Given the description of an element on the screen output the (x, y) to click on. 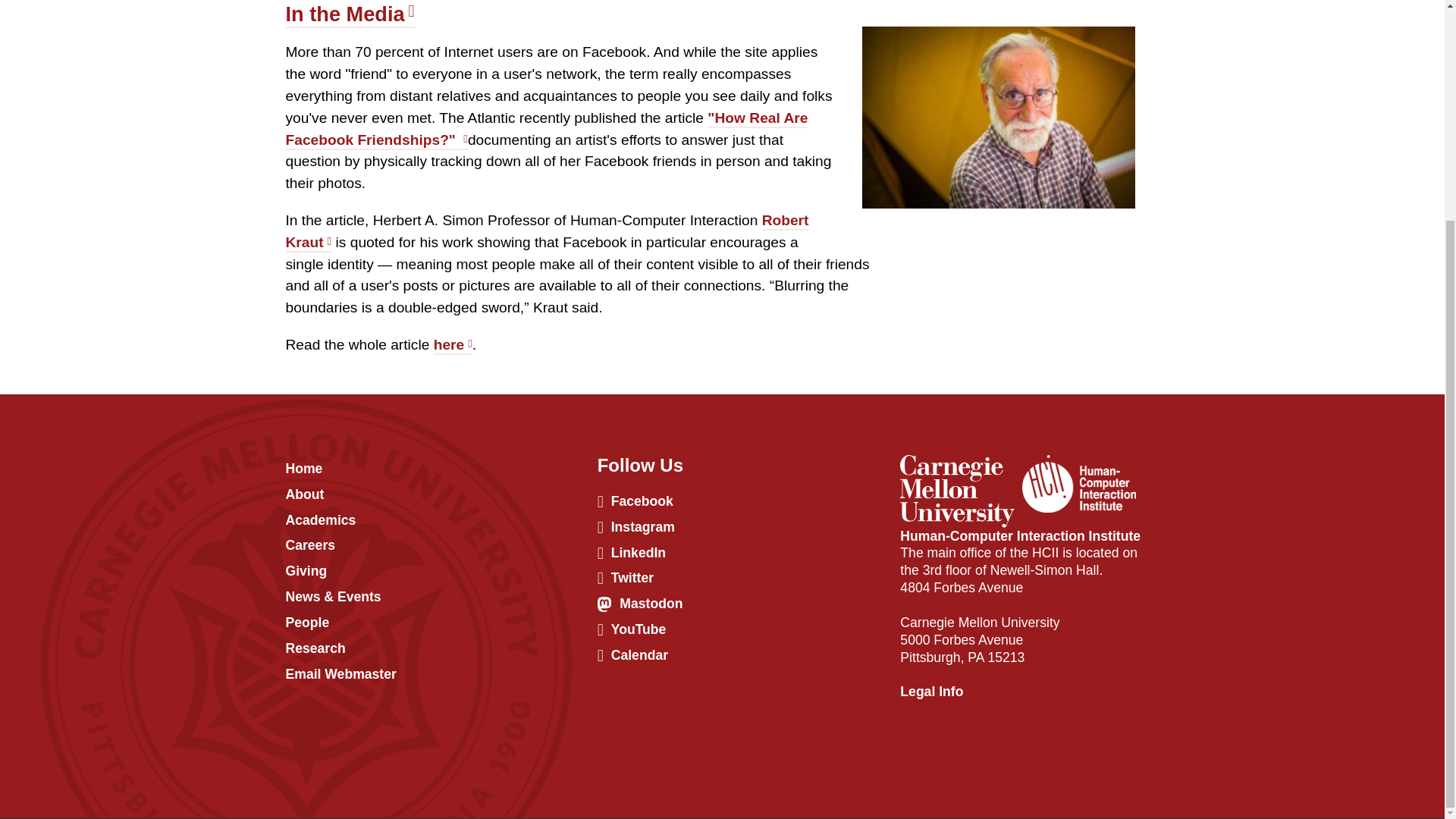
Home (303, 469)
opens in a new window (930, 692)
Twitter (624, 579)
LinkedIn (630, 553)
Academics (320, 520)
Robert Kraut (546, 232)
Facebook (634, 502)
YouTube (631, 630)
opens in a new window (958, 464)
Instagram (635, 528)
Legal Info (930, 692)
Careers (309, 546)
In the Media (349, 14)
Mastodon (639, 604)
"How Real Are Facebook Friendships?" (546, 129)
